Given the description of an element on the screen output the (x, y) to click on. 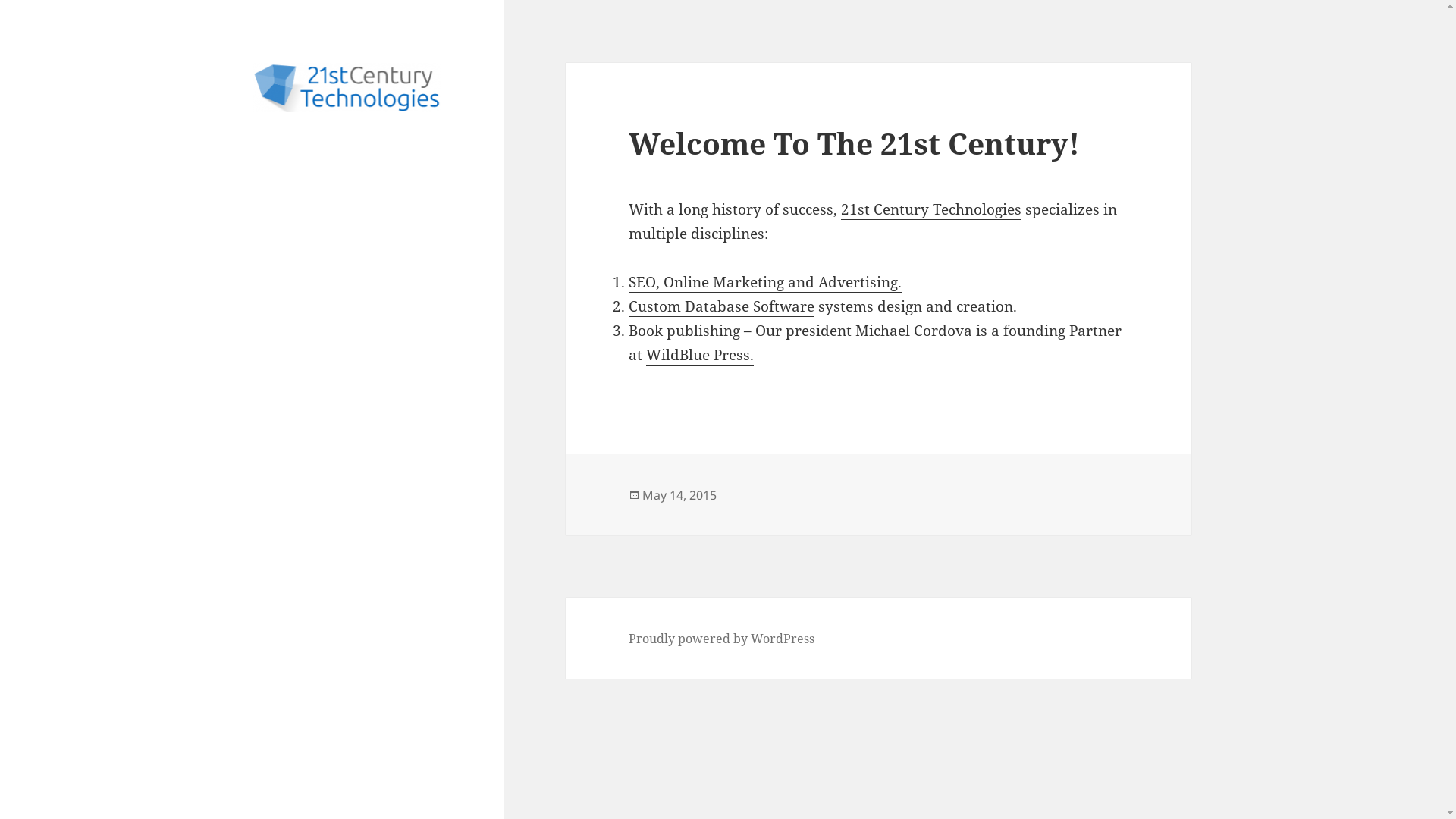
May 14, 2015 Element type: text (679, 495)
Proudly powered by WordPress Element type: text (721, 638)
WildBlue Press. Element type: text (699, 355)
21st Century Technologies, Inc. Element type: text (344, 148)
SEO, Online Marketing and Advertising. Element type: text (764, 282)
21st Century Technologies Element type: text (930, 209)
Custom Database Software Element type: text (721, 306)
Welcome To The 21st Century! Element type: text (853, 142)
